Given the description of an element on the screen output the (x, y) to click on. 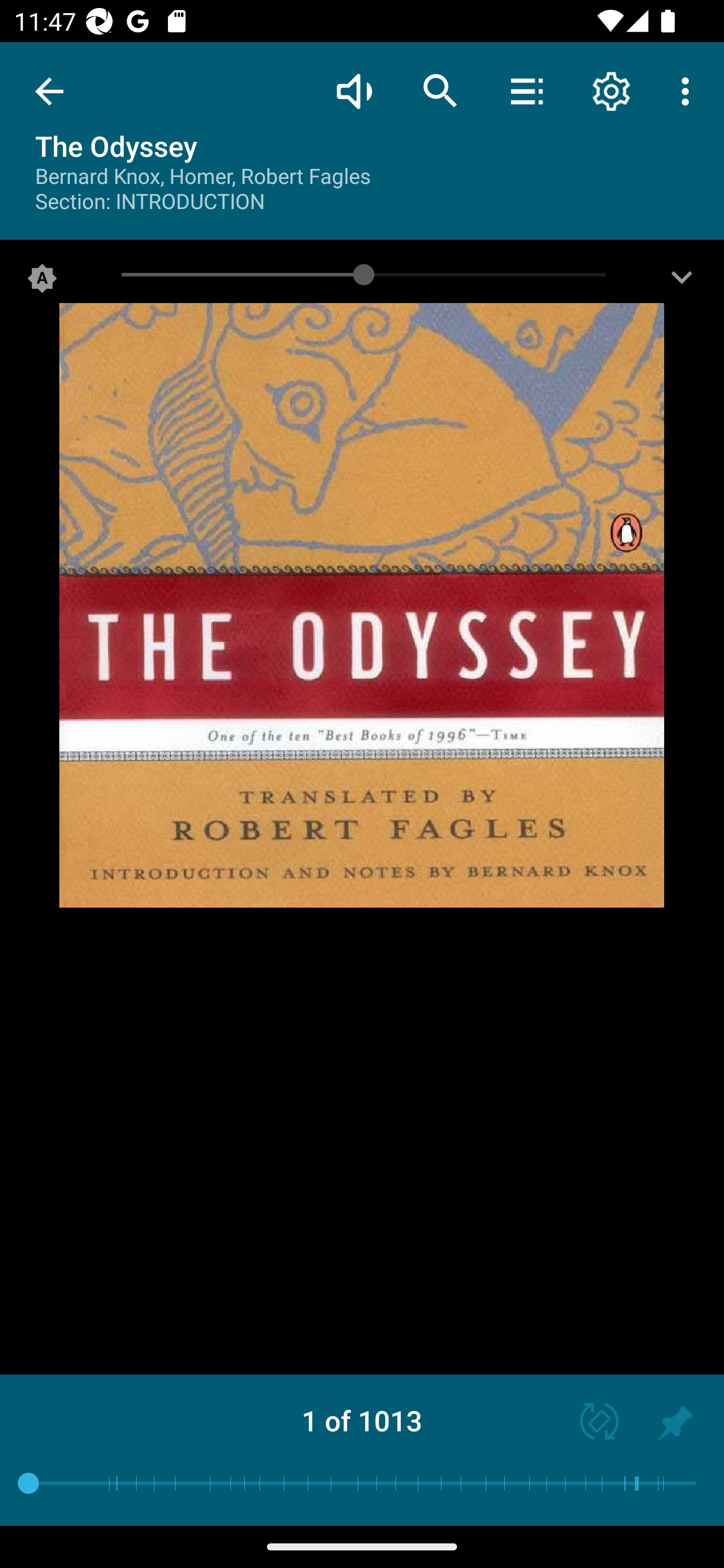
Exit reading (49, 91)
Read aloud (354, 90)
Text search (440, 90)
Contents / Bookmarks / Quotes (526, 90)
Reading settings (611, 90)
More options (688, 90)
Selected screen brightness (42, 281)
Screen brightness settings (681, 281)
1 of 1013 (361, 1420)
Screen orientation (590, 1423)
Add to history (674, 1423)
